Given the description of an element on the screen output the (x, y) to click on. 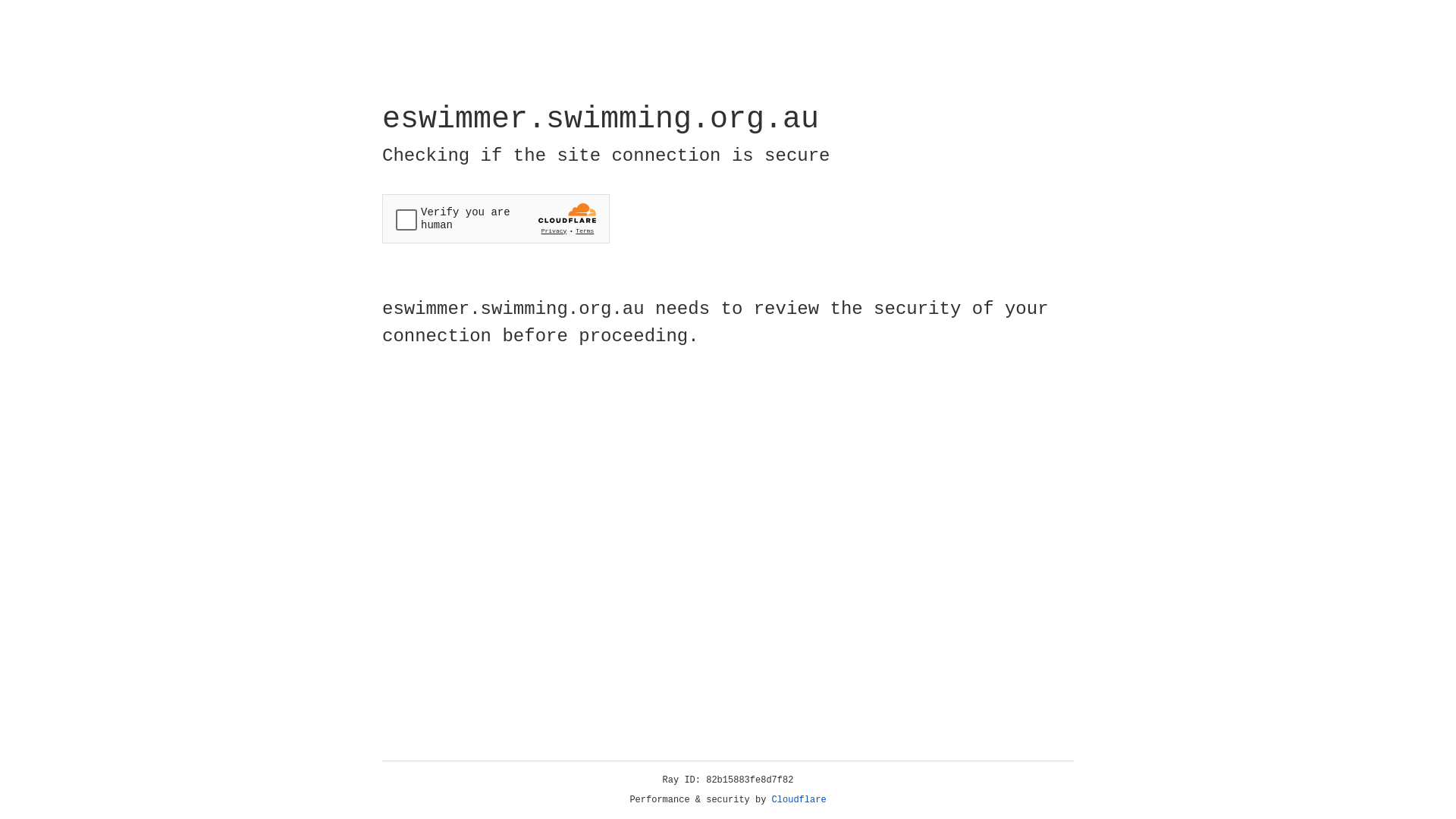
Widget containing a Cloudflare security challenge Element type: hover (495, 218)
Cloudflare Element type: text (798, 799)
